Given the description of an element on the screen output the (x, y) to click on. 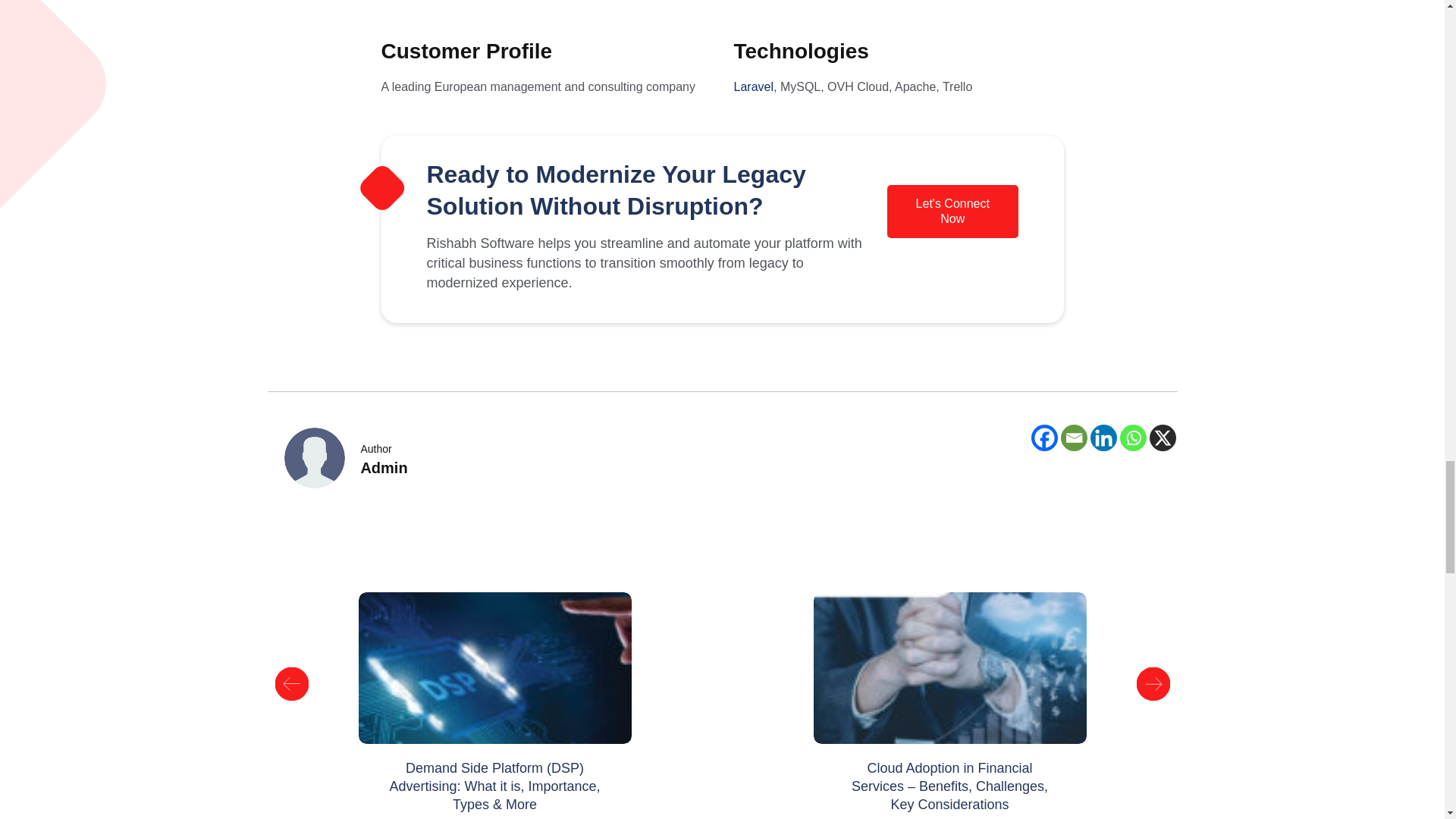
Whatsapp (1132, 438)
Linkedin (1103, 438)
Email (1072, 438)
X (1163, 438)
Facebook (1044, 438)
